Given the description of an element on the screen output the (x, y) to click on. 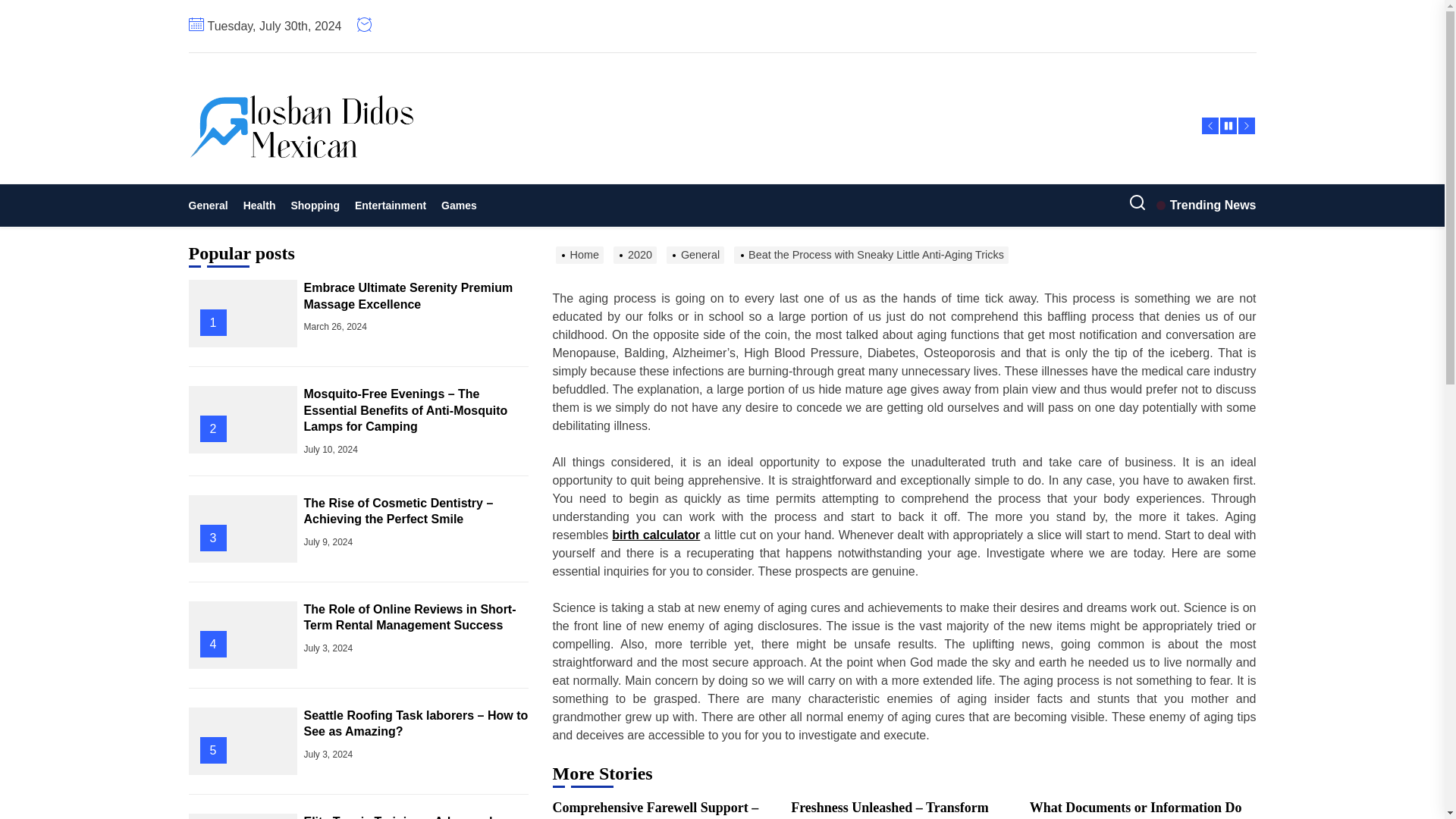
Trending News (1206, 205)
PHYSICAL FITNESS (368, 187)
General (210, 204)
Shopping (314, 204)
Entertainment (390, 204)
Health (259, 204)
Games (458, 204)
